Given the description of an element on the screen output the (x, y) to click on. 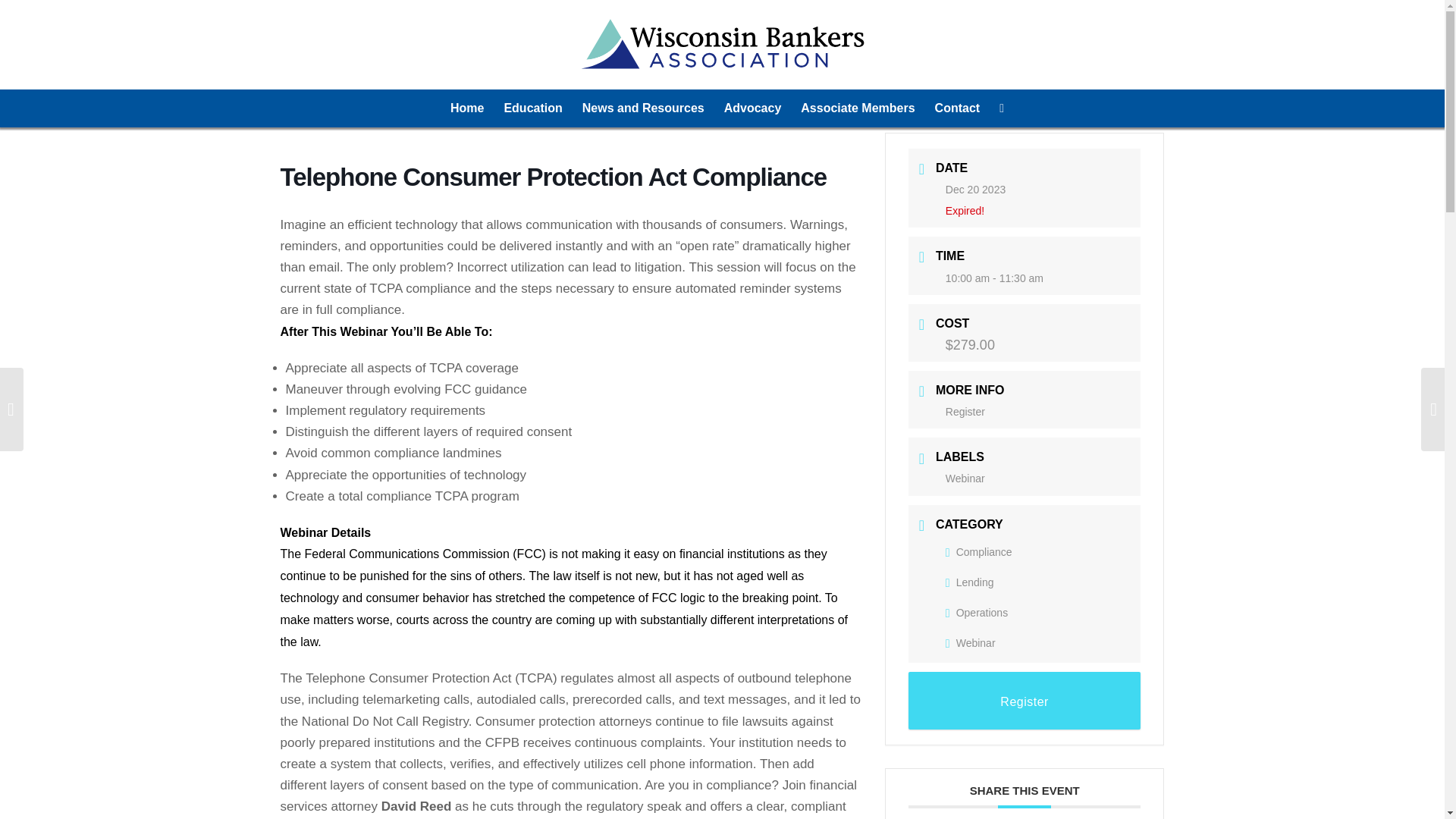
Associate Members (857, 108)
Banking Industry Education (532, 108)
Webinar (969, 643)
Contact (957, 108)
Wisconsin-Bankers-Association-logo (722, 44)
Wisconsin Bank Industry Advocacy (753, 108)
Register (1024, 700)
Home (467, 108)
News and Resources (643, 108)
Lending (969, 582)
